Given the description of an element on the screen output the (x, y) to click on. 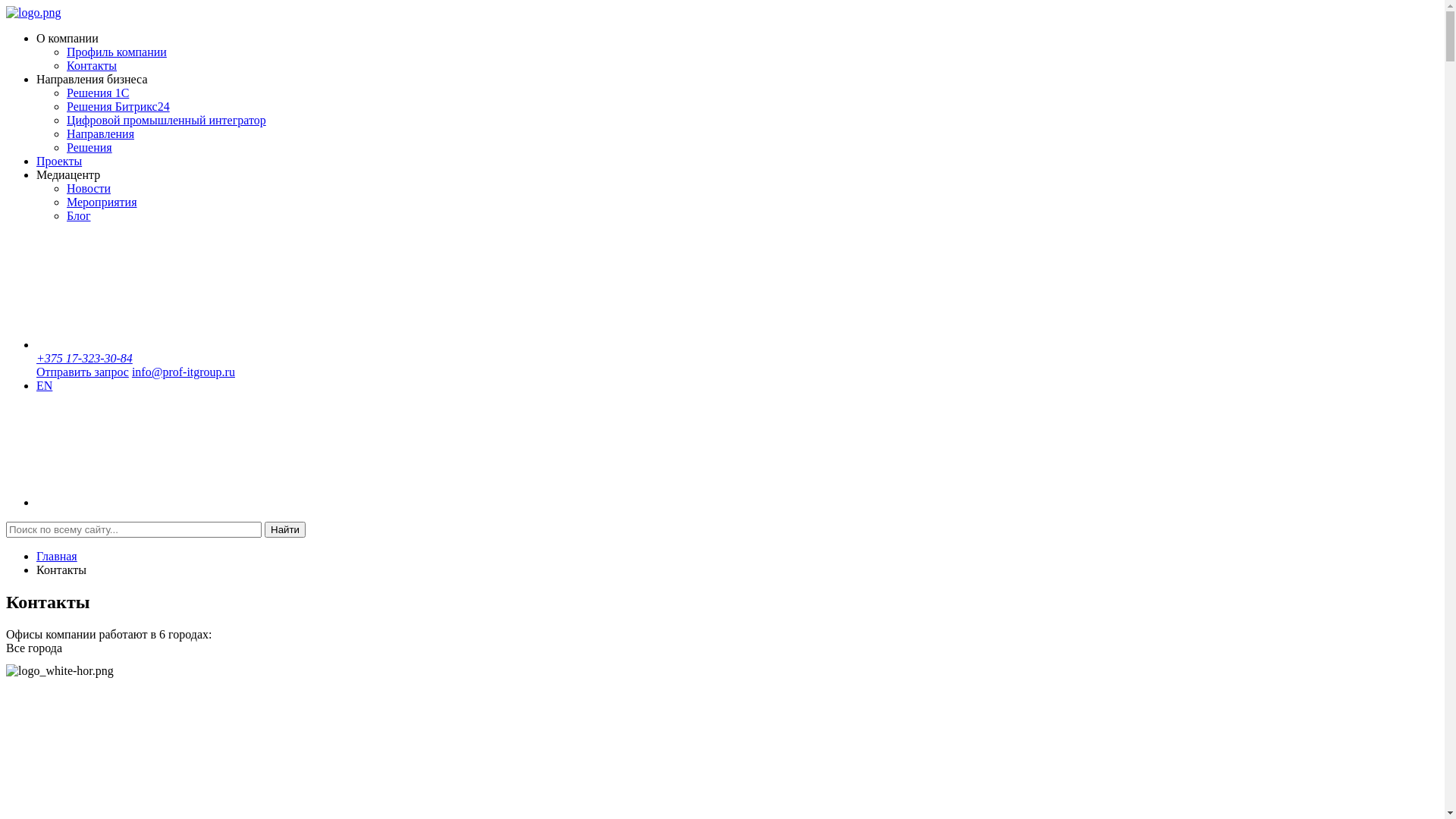
info@prof-itgroup.ru Element type: text (183, 371)
logo_white-hor.png Element type: hover (59, 670)
EN Element type: text (44, 385)
+375 17-323-30-84 Element type: text (84, 357)
logo.png Element type: hover (33, 12)
